Given the description of an element on the screen output the (x, y) to click on. 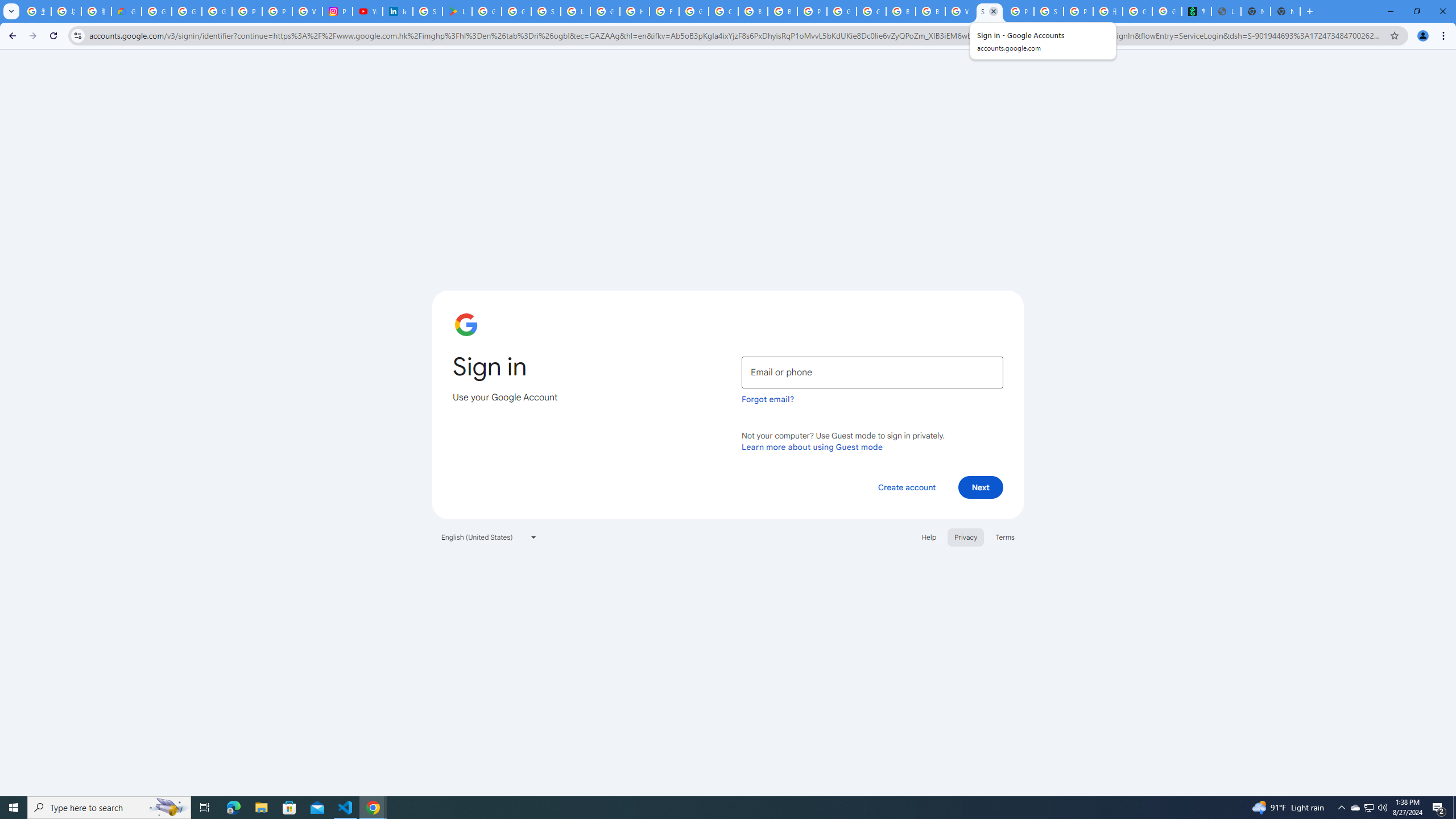
YouTube Culture & Trends - On The Rise: Handcam Videos (367, 11)
How do I create a new Google Account? - Google Account Help (634, 11)
Sign in - Google Accounts (545, 11)
Forgot email? (767, 398)
Email or phone (872, 372)
